Given the description of an element on the screen output the (x, y) to click on. 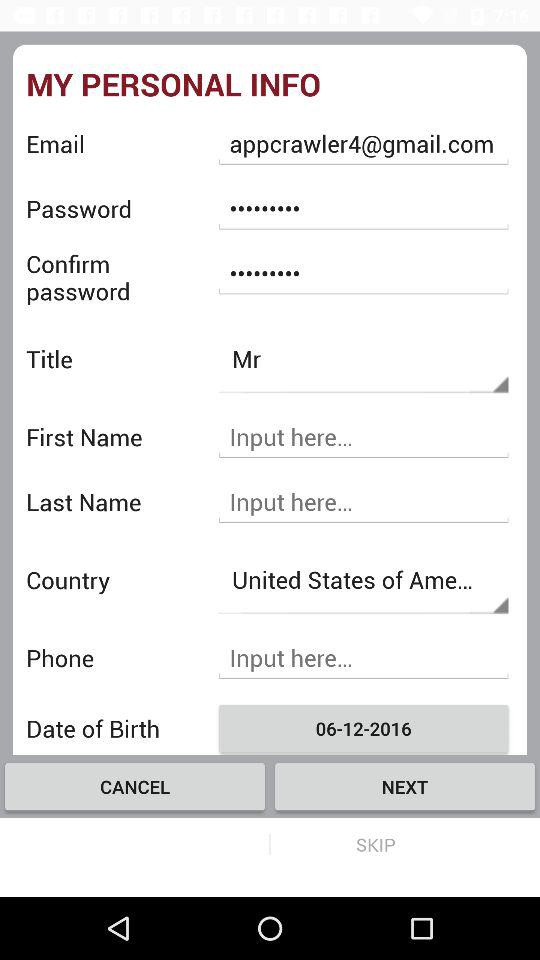
add text (363, 502)
